Given the description of an element on the screen output the (x, y) to click on. 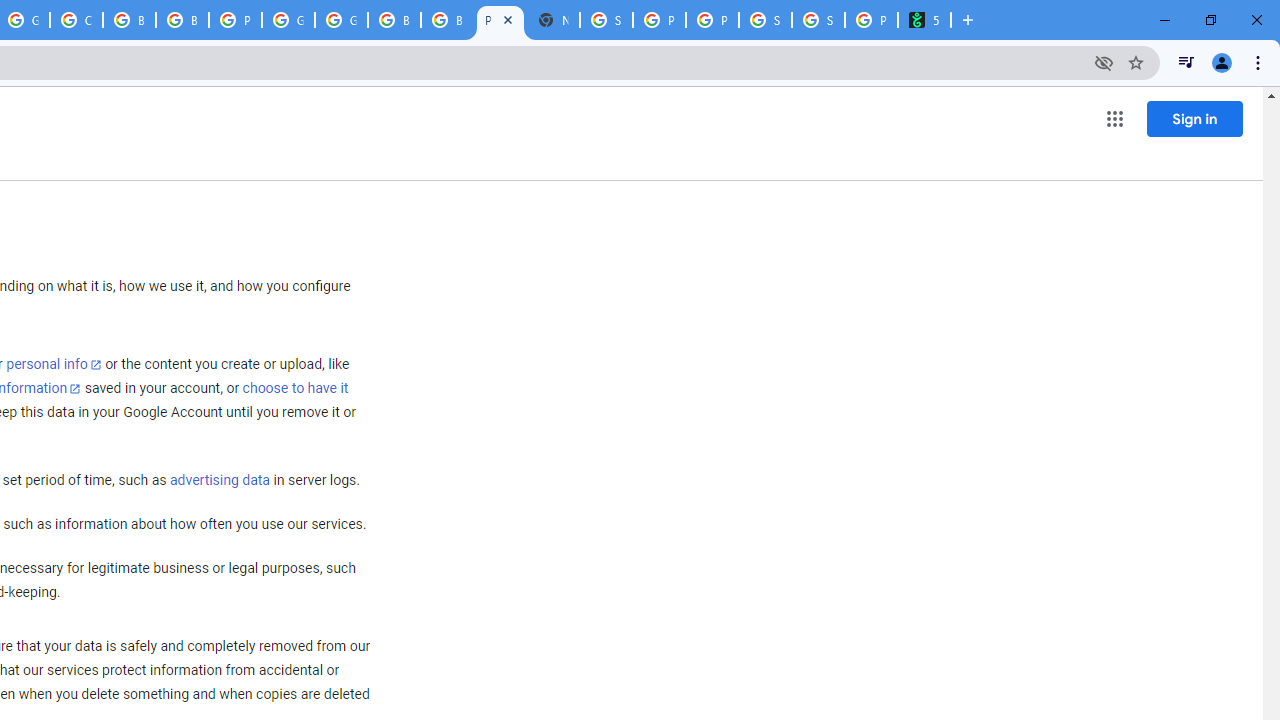
New Tab (553, 20)
personal info (54, 364)
Sign in - Google Accounts (606, 20)
Control your music, videos, and more (1185, 62)
